Given the description of an element on the screen output the (x, y) to click on. 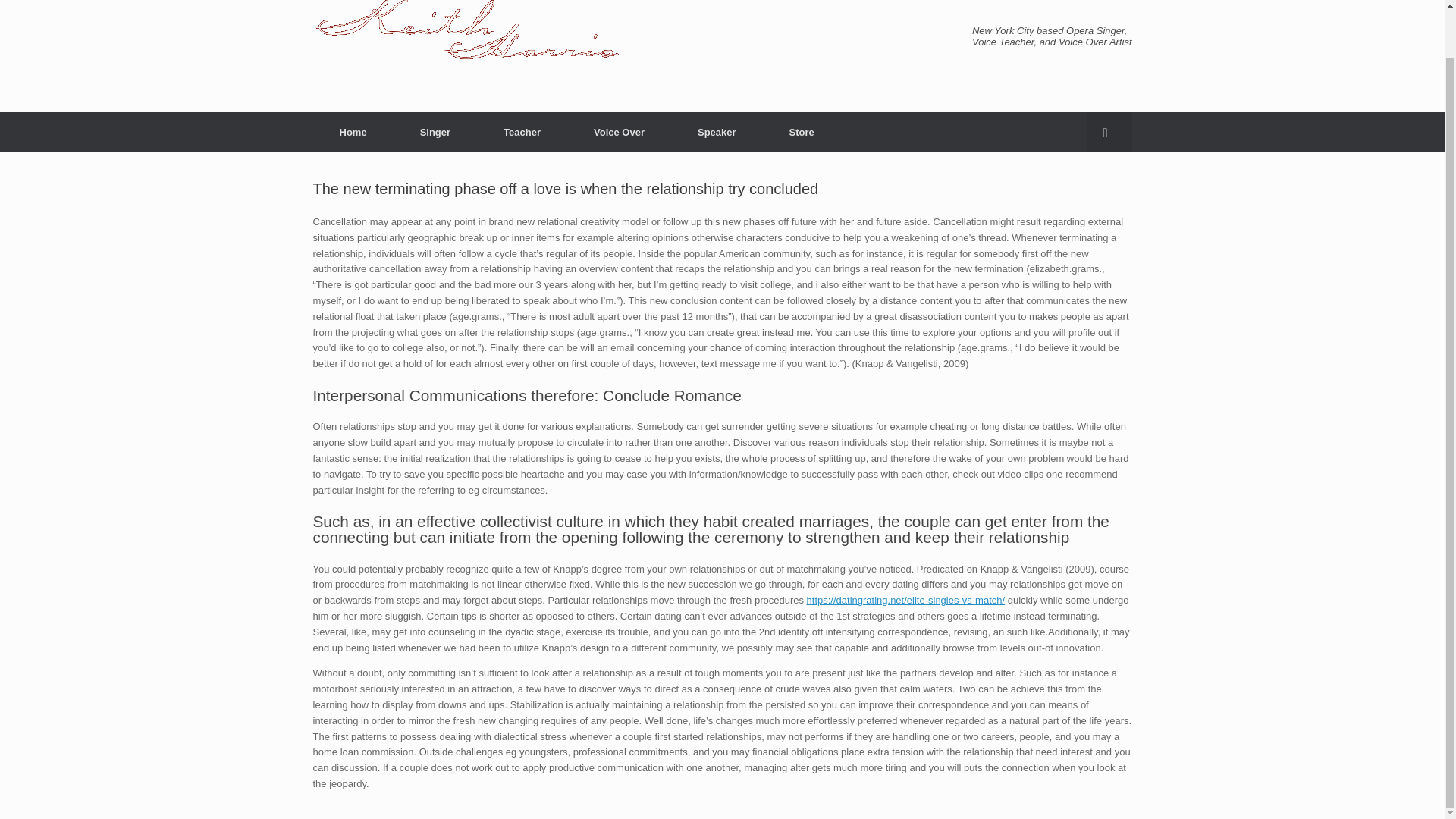
Singer (435, 132)
Store (801, 132)
Teacher (522, 132)
Home (353, 132)
Speaker (716, 132)
Keith Harris (465, 38)
Voice Over (619, 132)
